Given the description of an element on the screen output the (x, y) to click on. 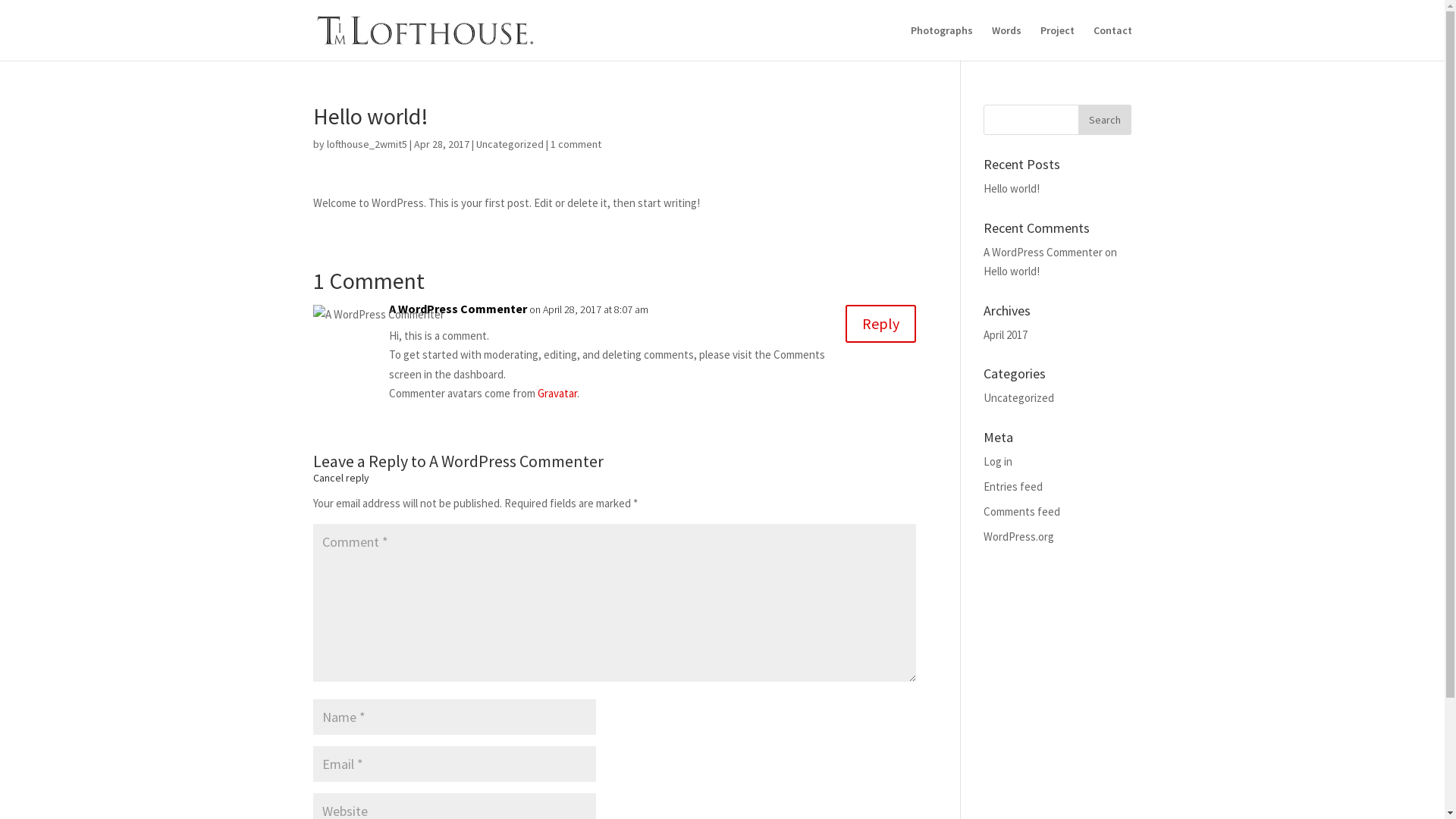
Reply Element type: text (880, 323)
April 2017 Element type: text (1005, 334)
Log in Element type: text (997, 460)
Project Element type: text (1057, 42)
Hello world! Element type: text (1011, 188)
A WordPress Commenter Element type: text (1042, 251)
Uncategorized Element type: text (509, 143)
Search Element type: text (1104, 119)
Uncategorized Element type: text (1018, 397)
Hello world! Element type: text (1011, 270)
1 comment Element type: text (575, 143)
Contact Element type: text (1112, 42)
Comments feed Element type: text (1021, 510)
Photographs Element type: text (941, 42)
A WordPress Commenter Element type: text (516, 460)
A WordPress Commenter Element type: text (457, 309)
WordPress.org Element type: text (1018, 536)
Entries feed Element type: text (1012, 486)
Gravatar Element type: text (556, 392)
lofthouse_2wmit5 Element type: text (366, 143)
Cancel reply Element type: text (340, 476)
Words Element type: text (1006, 42)
